Given the description of an element on the screen output the (x, y) to click on. 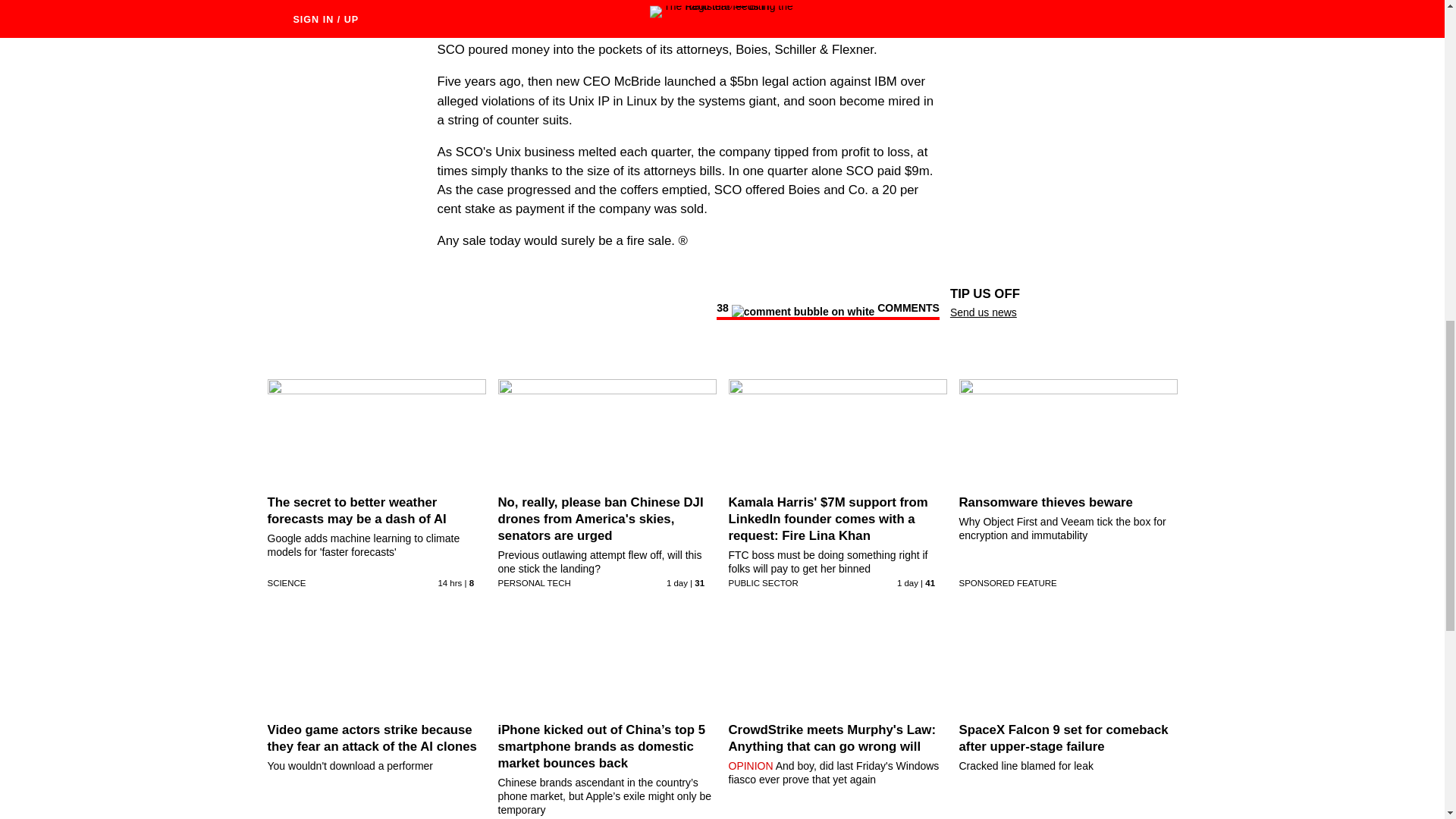
26 Jul 2024 21:58 (676, 583)
27 Jul 2024 13:27 (449, 583)
View comments on this article (827, 311)
26 Jul 2024 21:14 (907, 583)
